Given the description of an element on the screen output the (x, y) to click on. 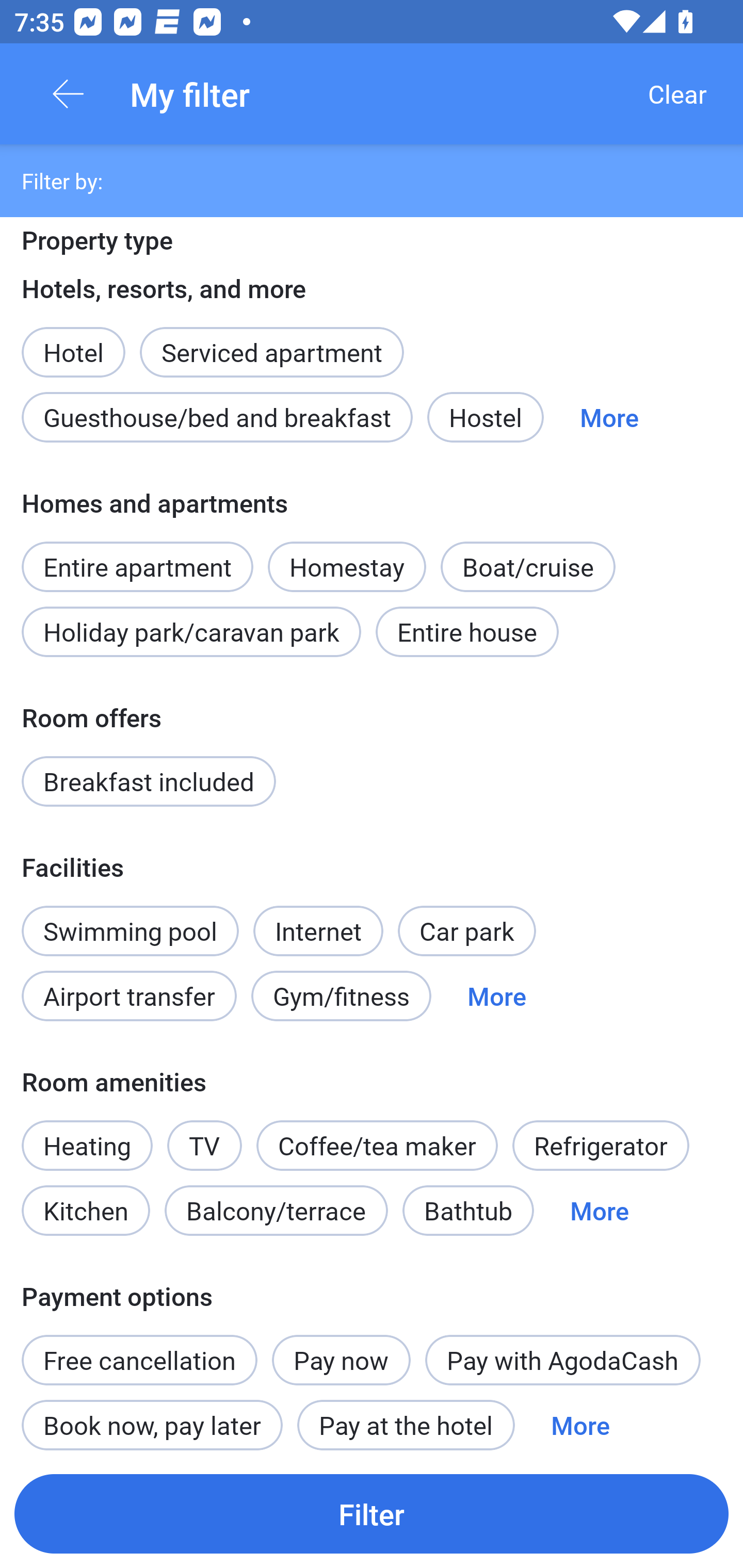
Clear (676, 93)
Hotel (73, 340)
Serviced apartment (271, 340)
Guesthouse/bed and breakfast (217, 416)
Hostel (485, 416)
More (608, 416)
Entire apartment (137, 555)
Homestay (346, 566)
Boat/cruise (527, 566)
Holiday park/caravan park (191, 631)
Entire house (466, 631)
Breakfast included (148, 781)
Swimming pool (130, 930)
Internet (318, 920)
Car park (466, 930)
Airport transfer (129, 996)
Gym/fitness (341, 996)
More (496, 996)
Heating (87, 1145)
TV (204, 1145)
Coffee/tea maker (376, 1145)
Refrigerator (600, 1145)
Kitchen (85, 1210)
Balcony/terrace (275, 1210)
Bathtub (468, 1210)
More (599, 1210)
Free cancellation (139, 1349)
Pay now (340, 1360)
Pay with AgodaCash (562, 1360)
Book now, pay later (152, 1420)
Pay at the hotel (405, 1420)
More (580, 1420)
Filter (371, 1513)
